Given the description of an element on the screen output the (x, y) to click on. 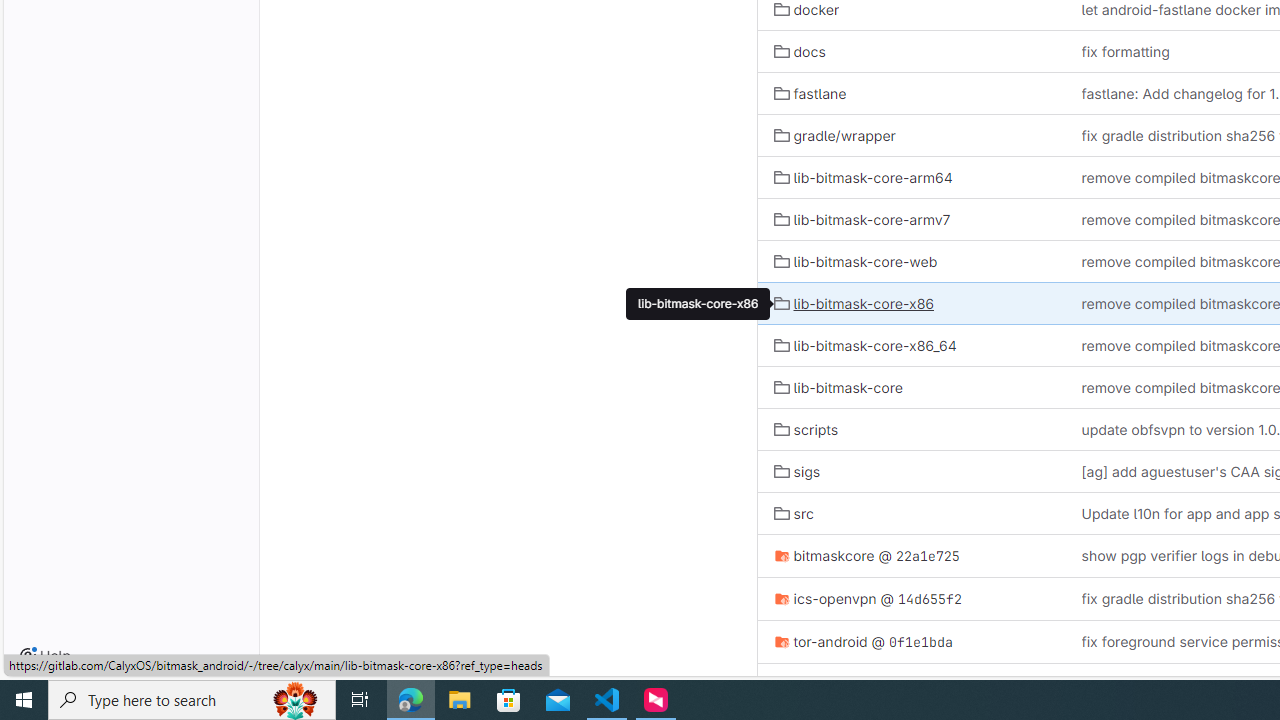
lib-bitmask-core (911, 386)
Help (45, 655)
sigs (796, 470)
gradle/wrapper (834, 135)
docs (799, 51)
.gitignore (911, 684)
lib-bitmask-core-x86 (911, 303)
lib-bitmask-core-x86_64 (865, 344)
ics-openvpn @ 14d655f2 (911, 598)
lib-bitmask-core-x86_64 (911, 345)
0f1e1bda (921, 641)
src (793, 513)
lib-bitmask-core-armv7 (911, 219)
fastlane (911, 93)
src (911, 512)
